Given the description of an element on the screen output the (x, y) to click on. 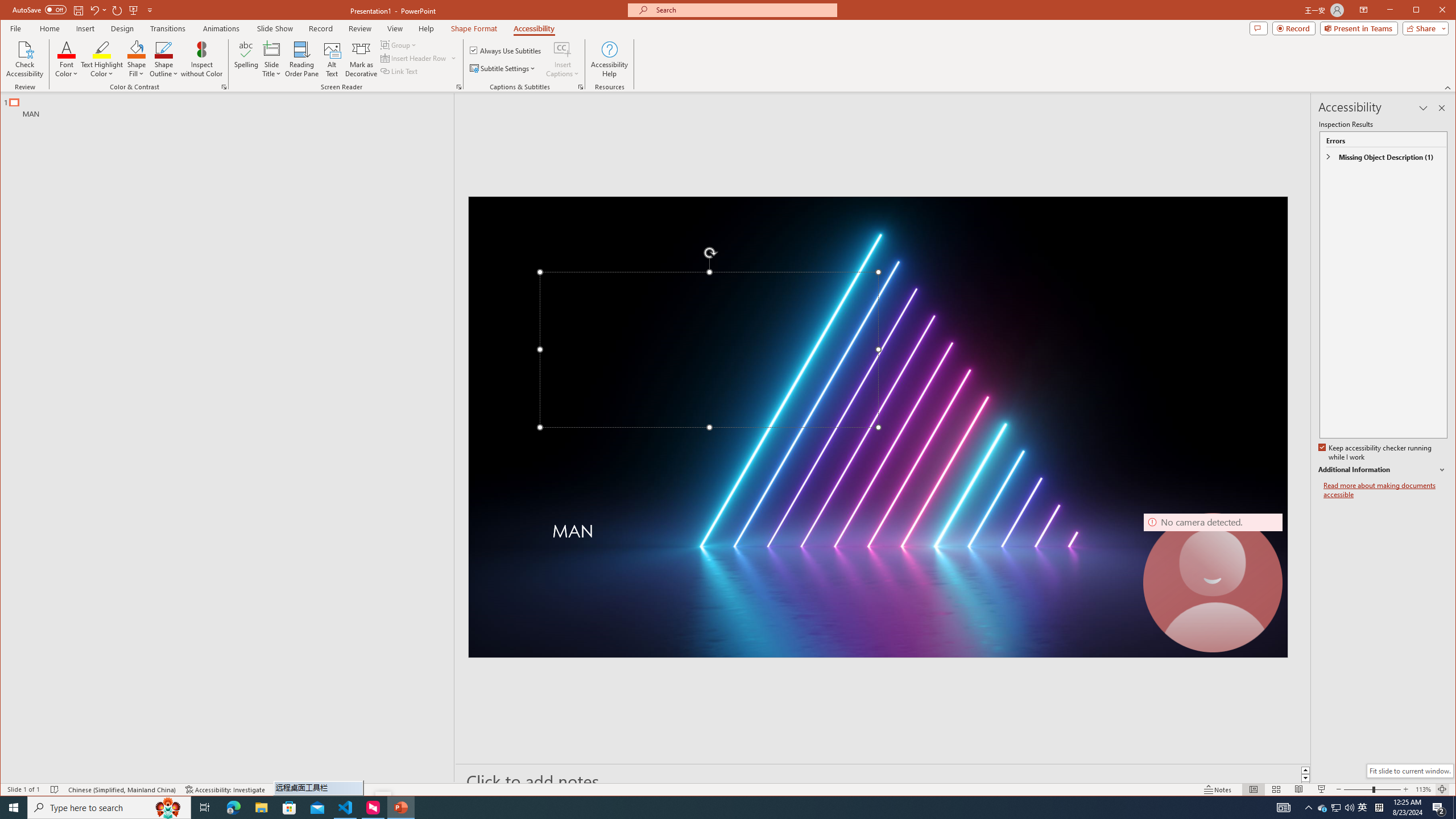
Microsoft Edge (233, 807)
Shape Fill Orange, Accent 2 (136, 48)
Running applications (700, 807)
Keep accessibility checker running while I work (1375, 452)
Slide Title (271, 48)
